Given the description of an element on the screen output the (x, y) to click on. 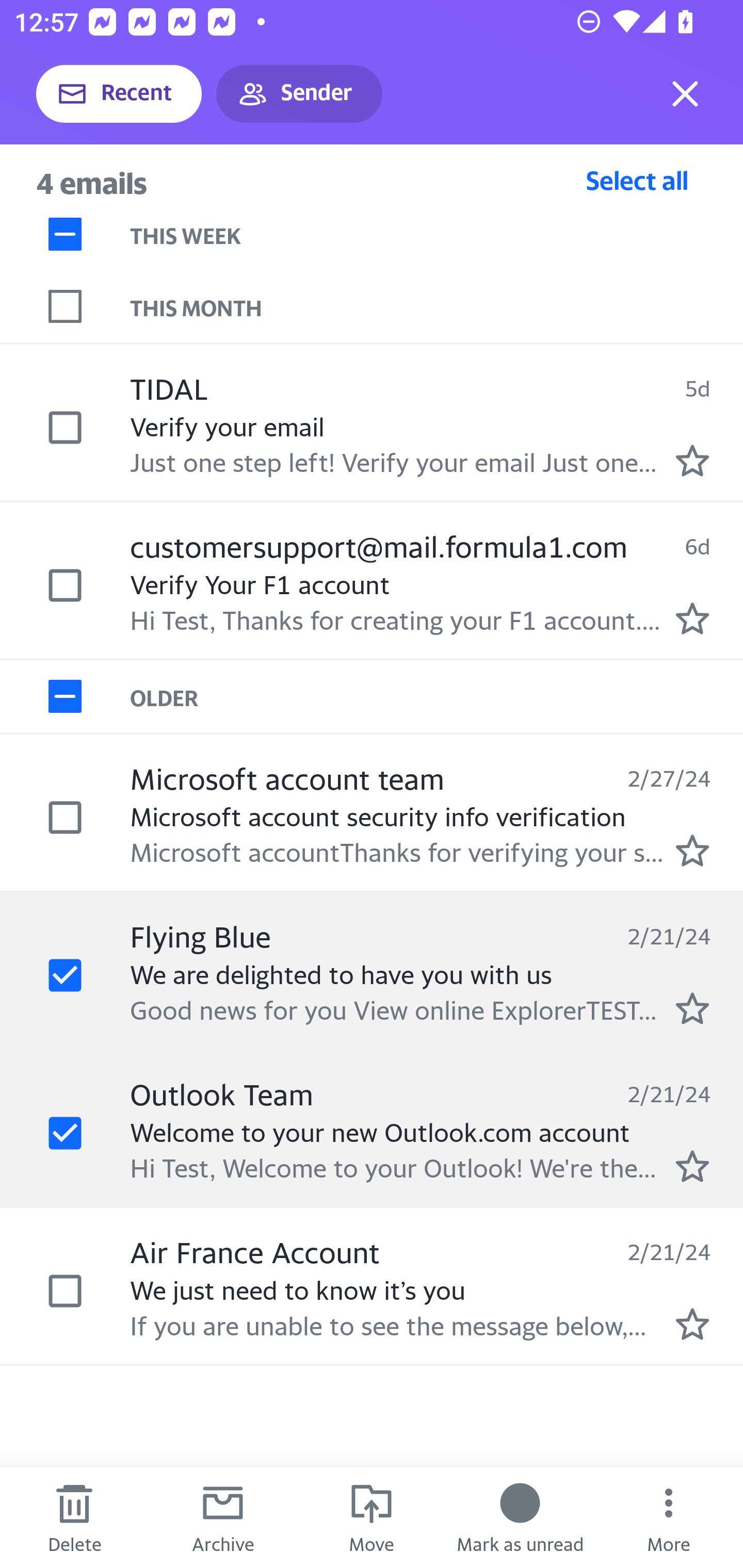
Sender (299, 93)
Exit selection mode (684, 93)
Select all (637, 180)
THIS MONTH (436, 306)
Mark as starred. (692, 460)
Mark as starred. (692, 618)
OLDER (436, 696)
Mark as starred. (692, 850)
Mark as starred. (692, 1008)
Mark as starred. (692, 1165)
Mark as starred. (692, 1324)
Delete (74, 1517)
Archive (222, 1517)
Move (371, 1517)
Mark as unread (519, 1517)
More (668, 1517)
